Given the description of an element on the screen output the (x, y) to click on. 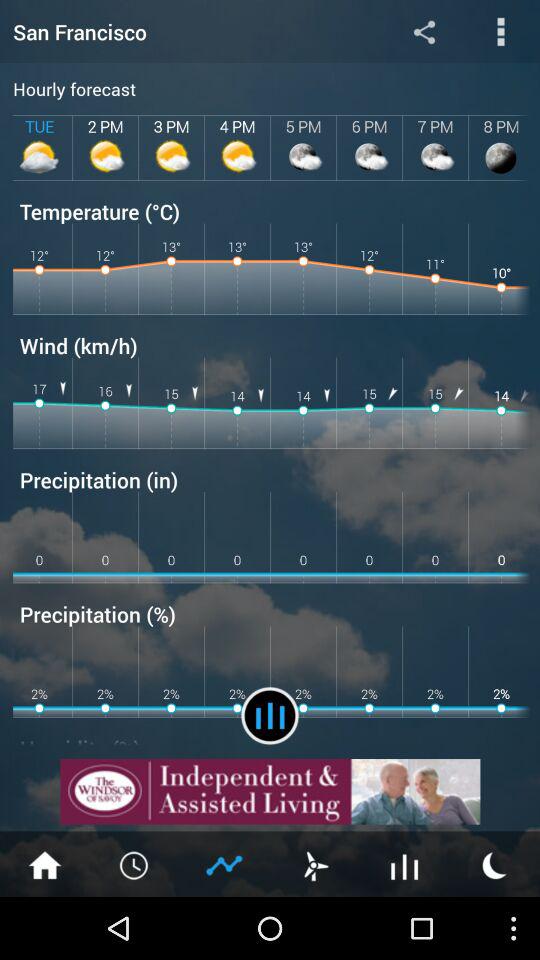
climate (225, 864)
